Given the description of an element on the screen output the (x, y) to click on. 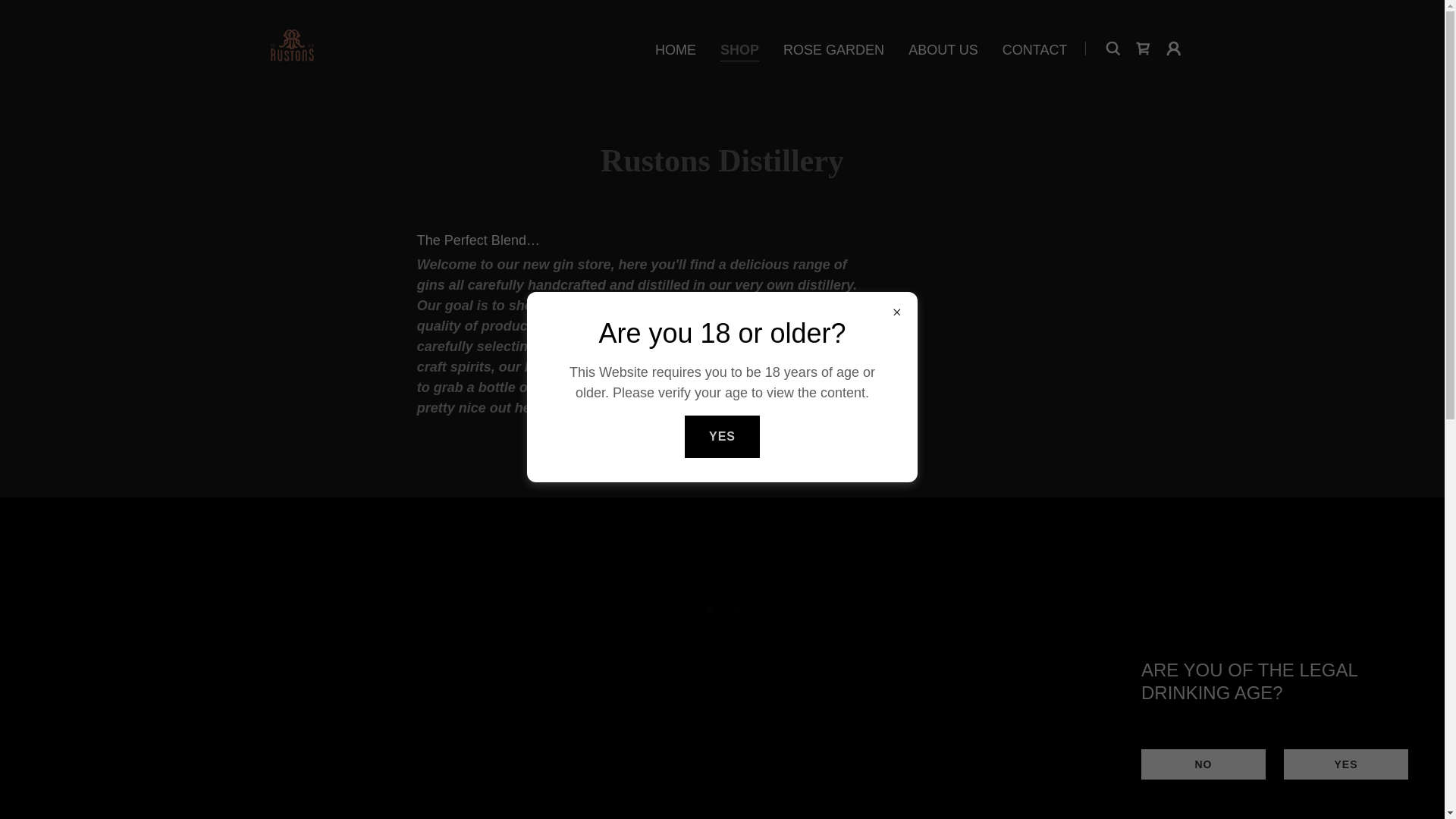
YES (1345, 764)
SHOP (739, 50)
ROSE GARDEN (833, 49)
ABOUT US (943, 49)
CONTACT (1034, 49)
NO (1203, 764)
HOME (675, 49)
